Given the description of an element on the screen output the (x, y) to click on. 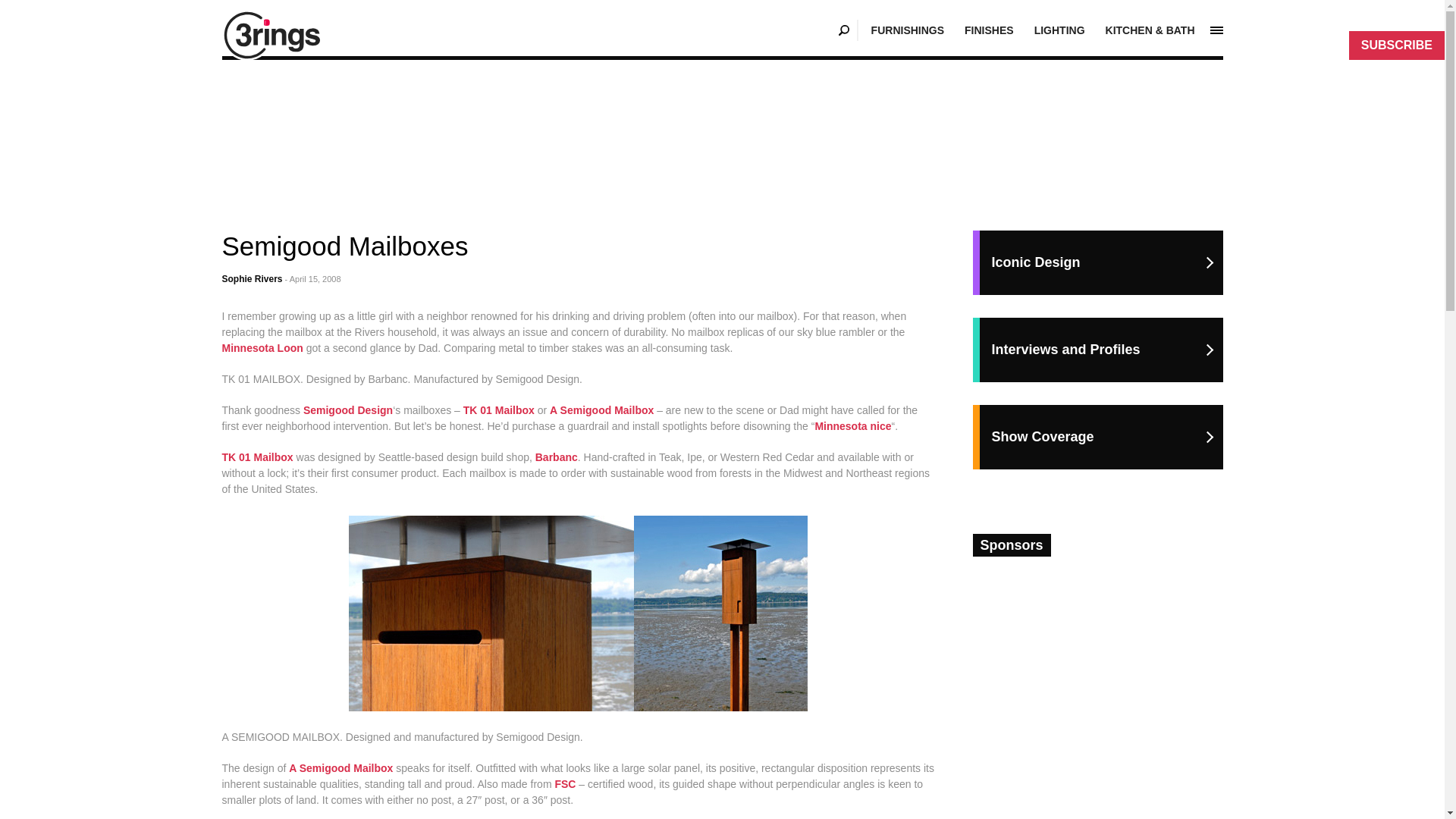
FINISHES (988, 30)
A Semigood Mailbox (603, 410)
semigood-mailboxes-larger (578, 613)
Furnishings (906, 30)
Finishes (988, 30)
3rd party ad content (1098, 643)
Lighting (1058, 30)
FURNISHINGS (906, 30)
Minnesota Loon (261, 347)
3rd party ad content (722, 123)
Semigood Design (347, 410)
TK 01 Mailbox (497, 410)
LIGHTING (1058, 30)
